Given the description of an element on the screen output the (x, y) to click on. 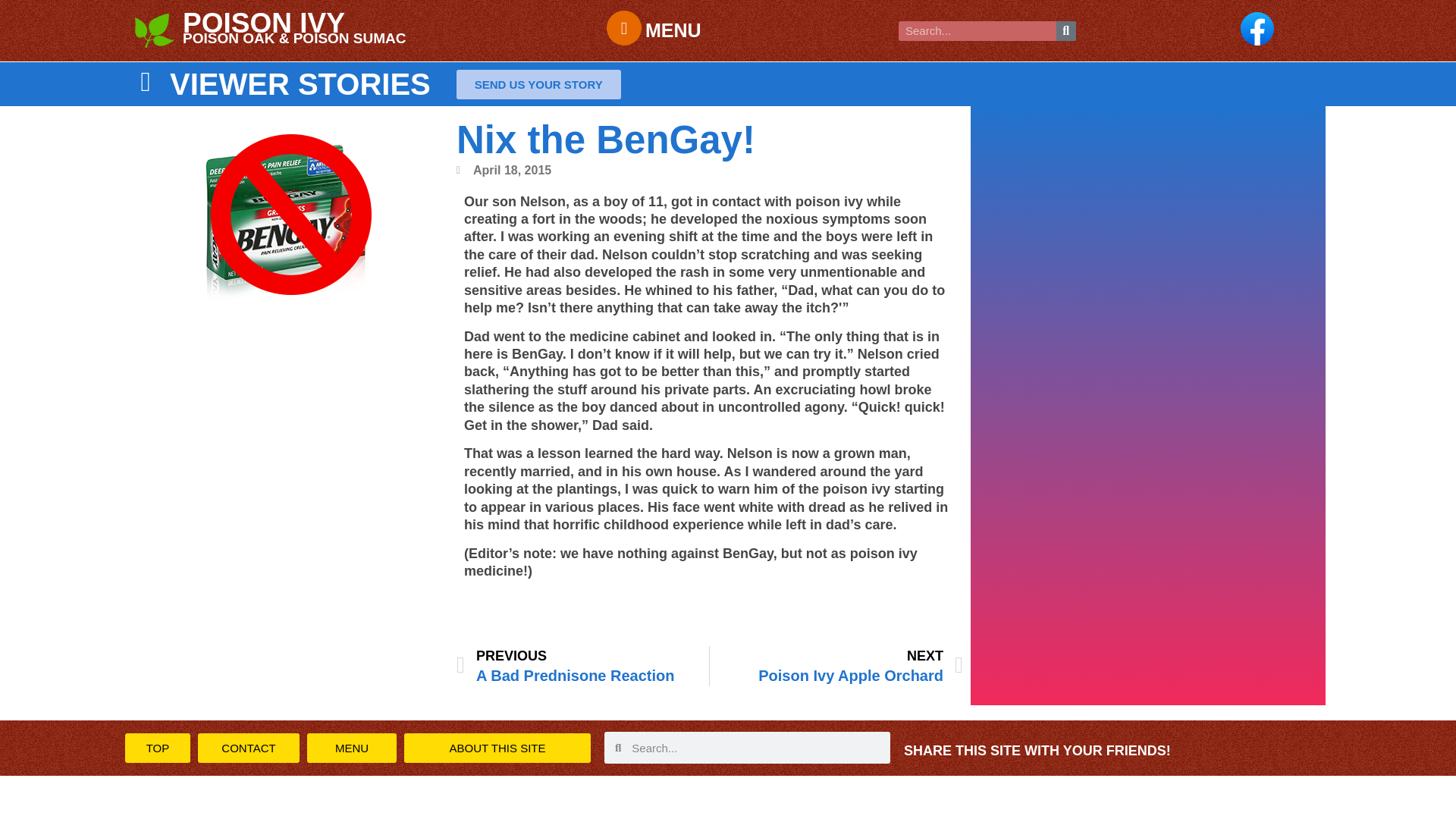
VIEWER STORIES (300, 83)
SEND US YOUR STORY (539, 84)
April 18, 2015 (504, 170)
MENU (673, 29)
ABOUT THIS SITE (497, 747)
POISON IVY (264, 22)
MENU (351, 747)
TOP (836, 666)
